Given the description of an element on the screen output the (x, y) to click on. 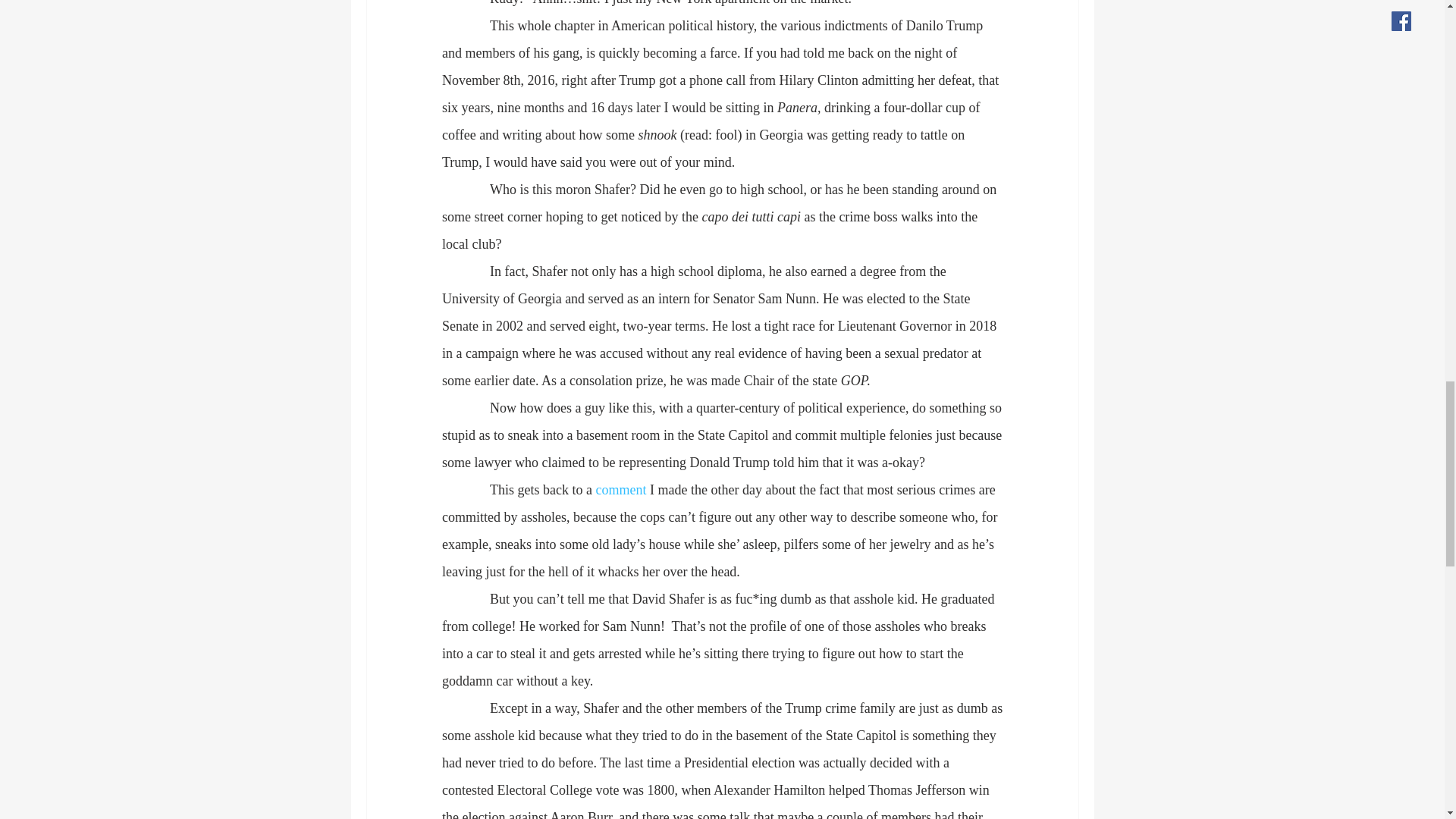
comment (620, 489)
